Given the description of an element on the screen output the (x, y) to click on. 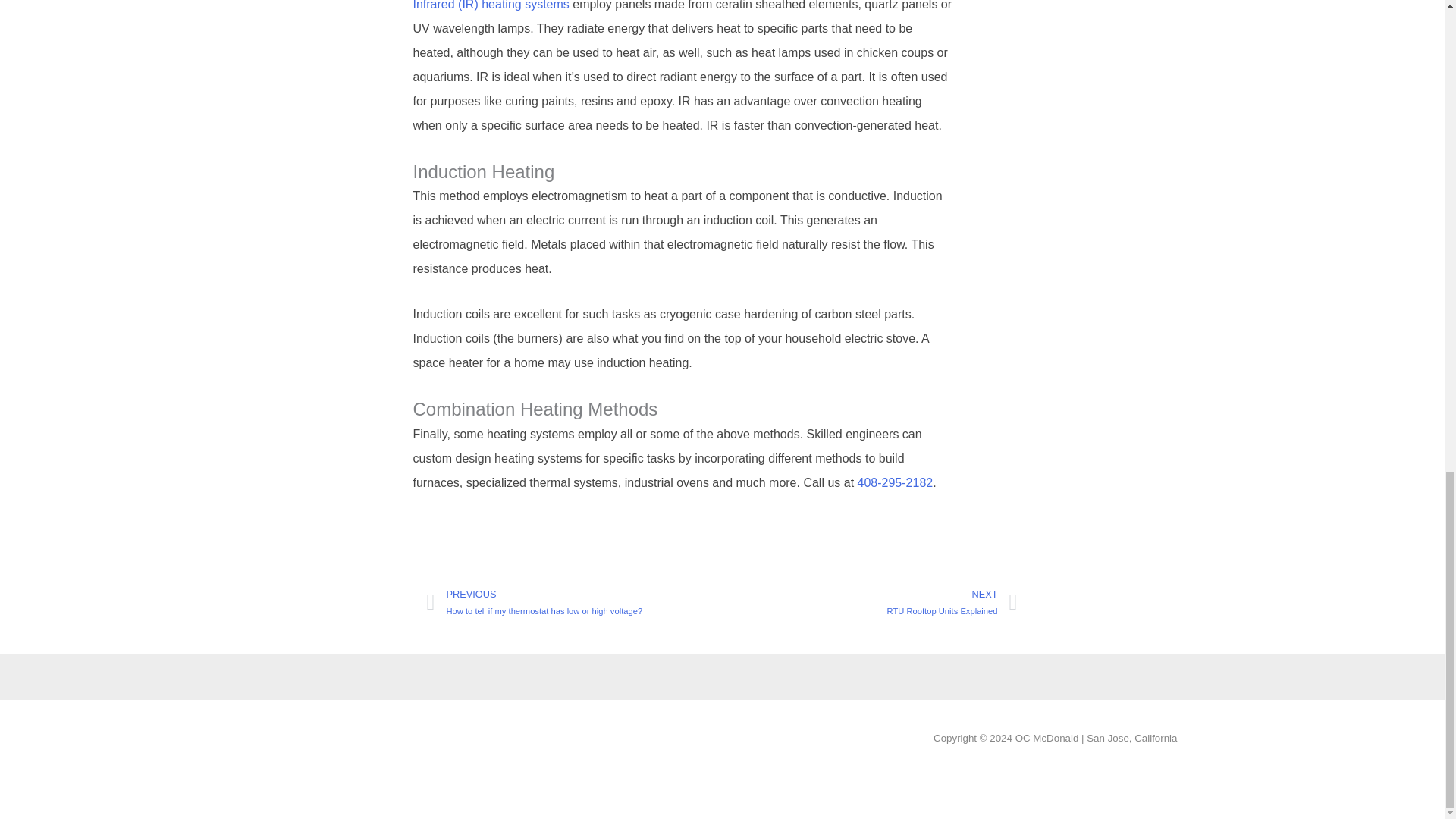
408-295-2182 (869, 602)
